Given the description of an element on the screen output the (x, y) to click on. 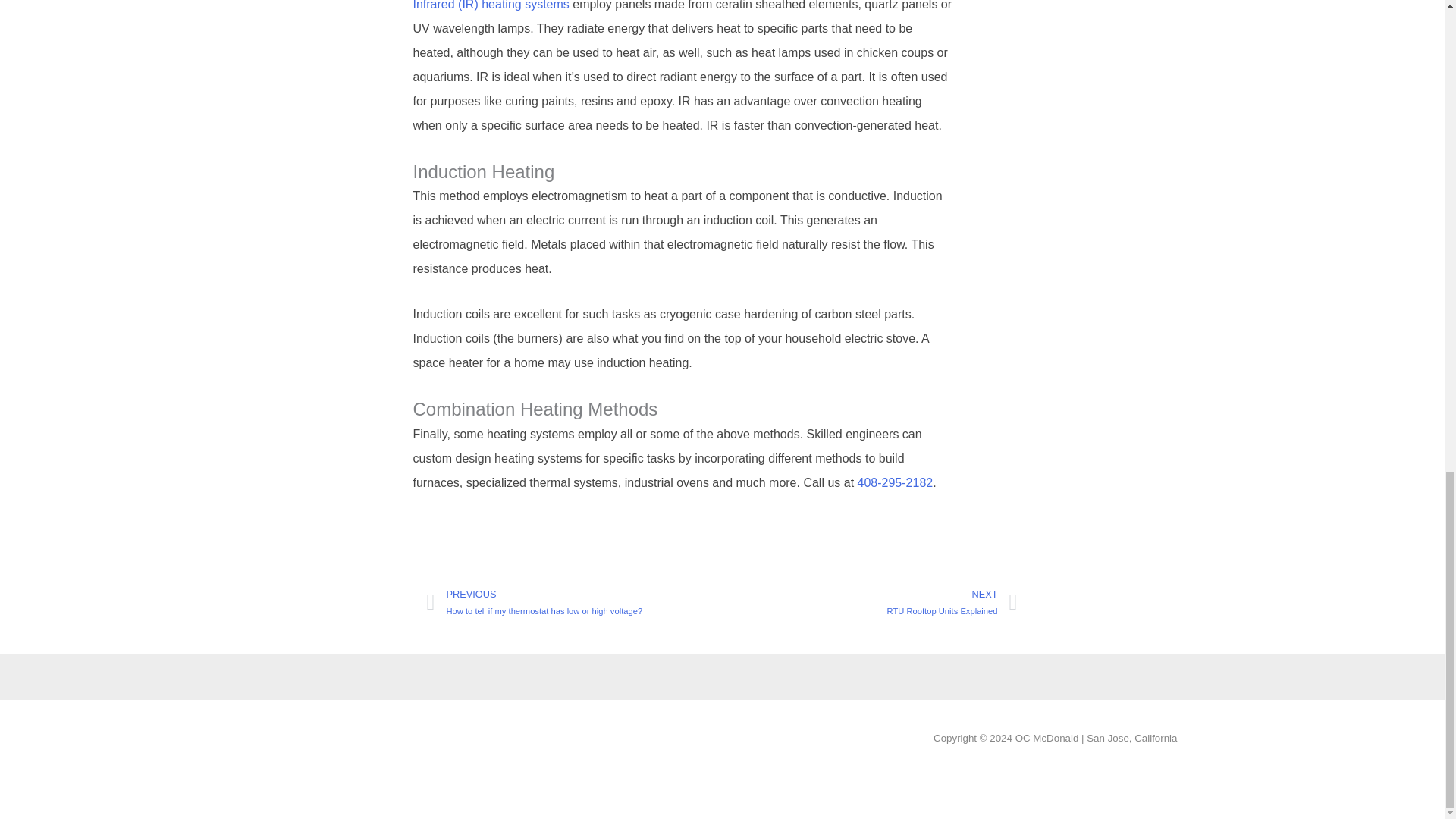
408-295-2182 (869, 602)
